Given the description of an element on the screen output the (x, y) to click on. 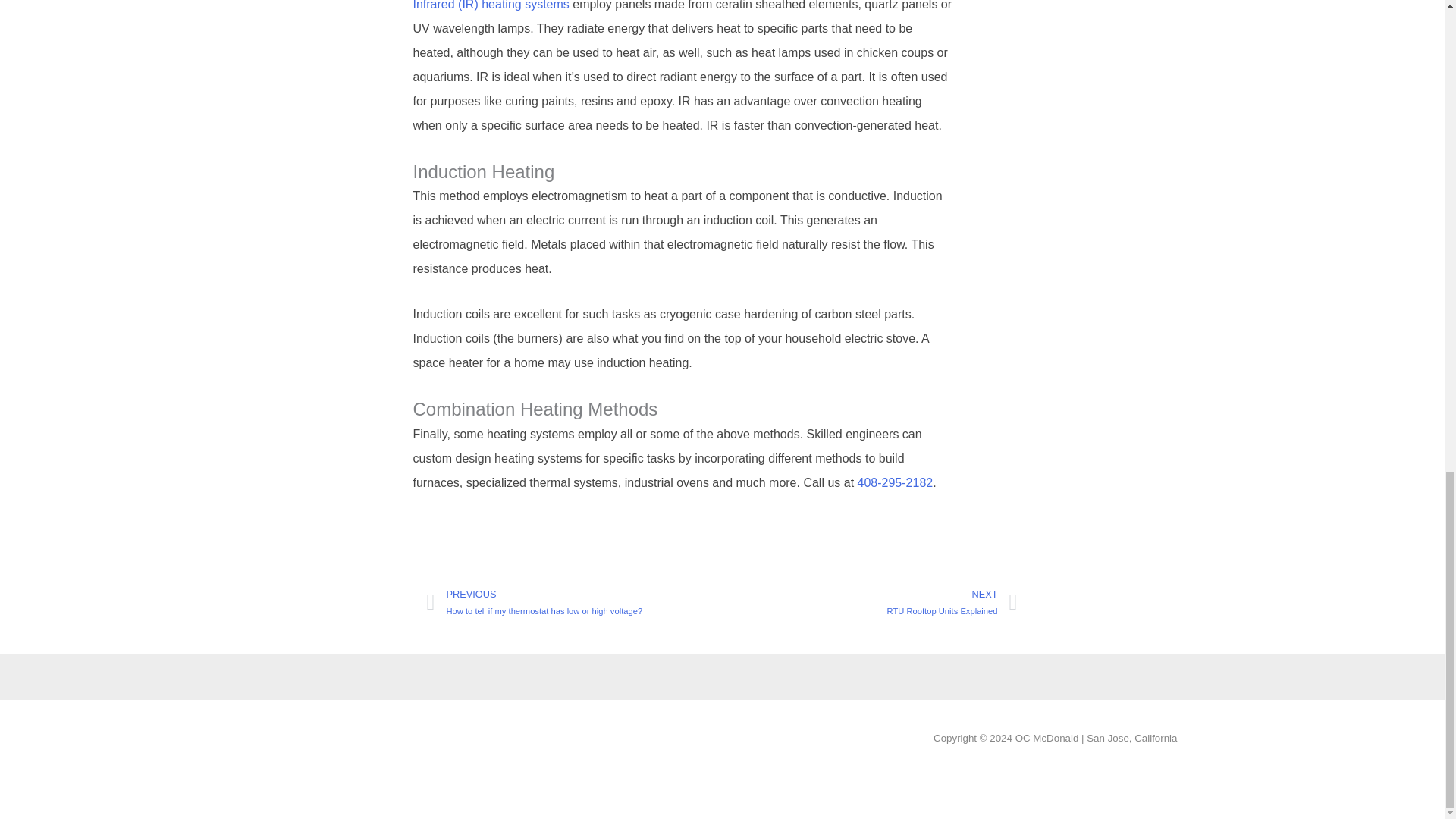
408-295-2182 (869, 602)
